Given the description of an element on the screen output the (x, y) to click on. 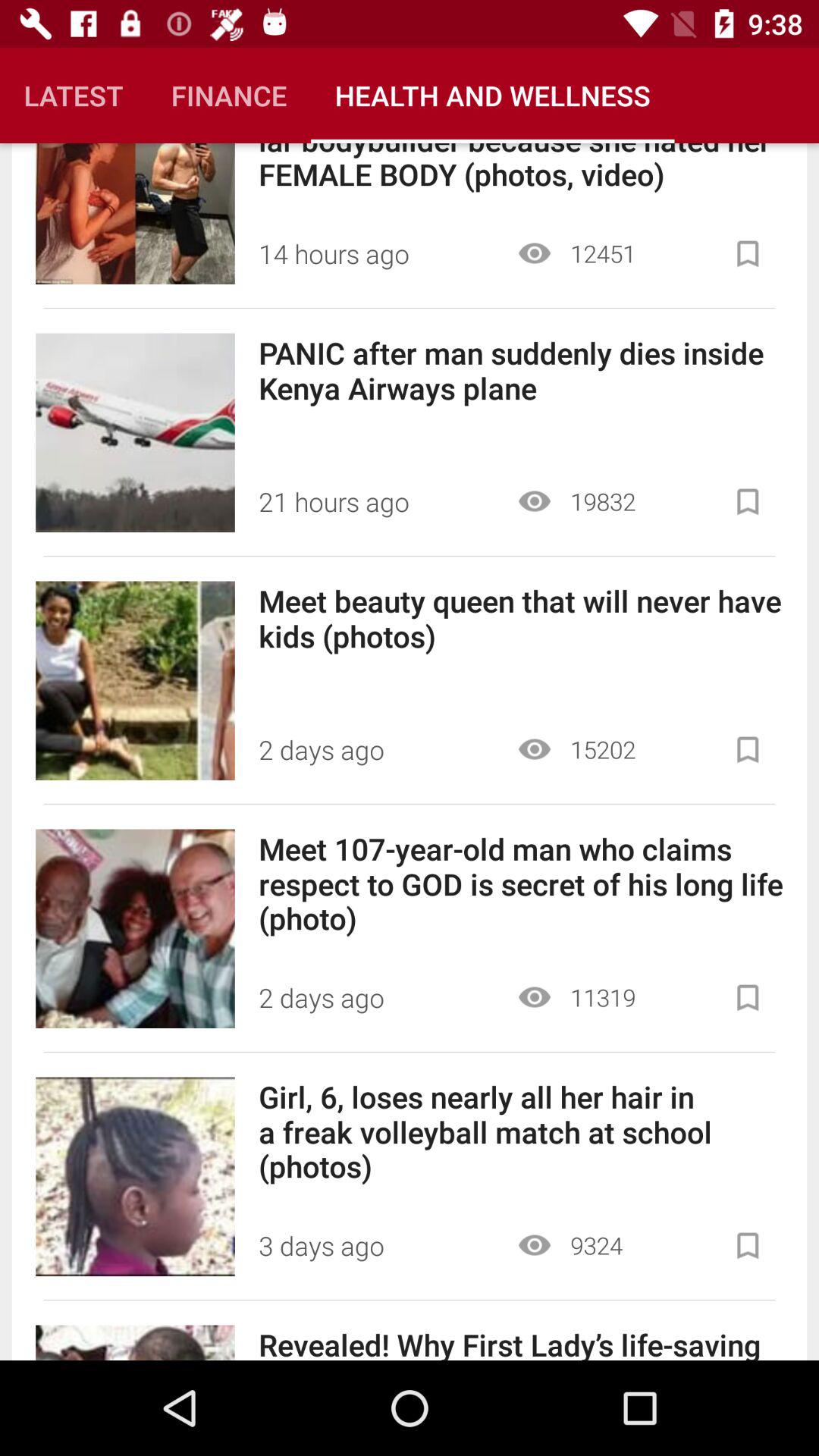
bookmark first article (747, 253)
